Given the description of an element on the screen output the (x, y) to click on. 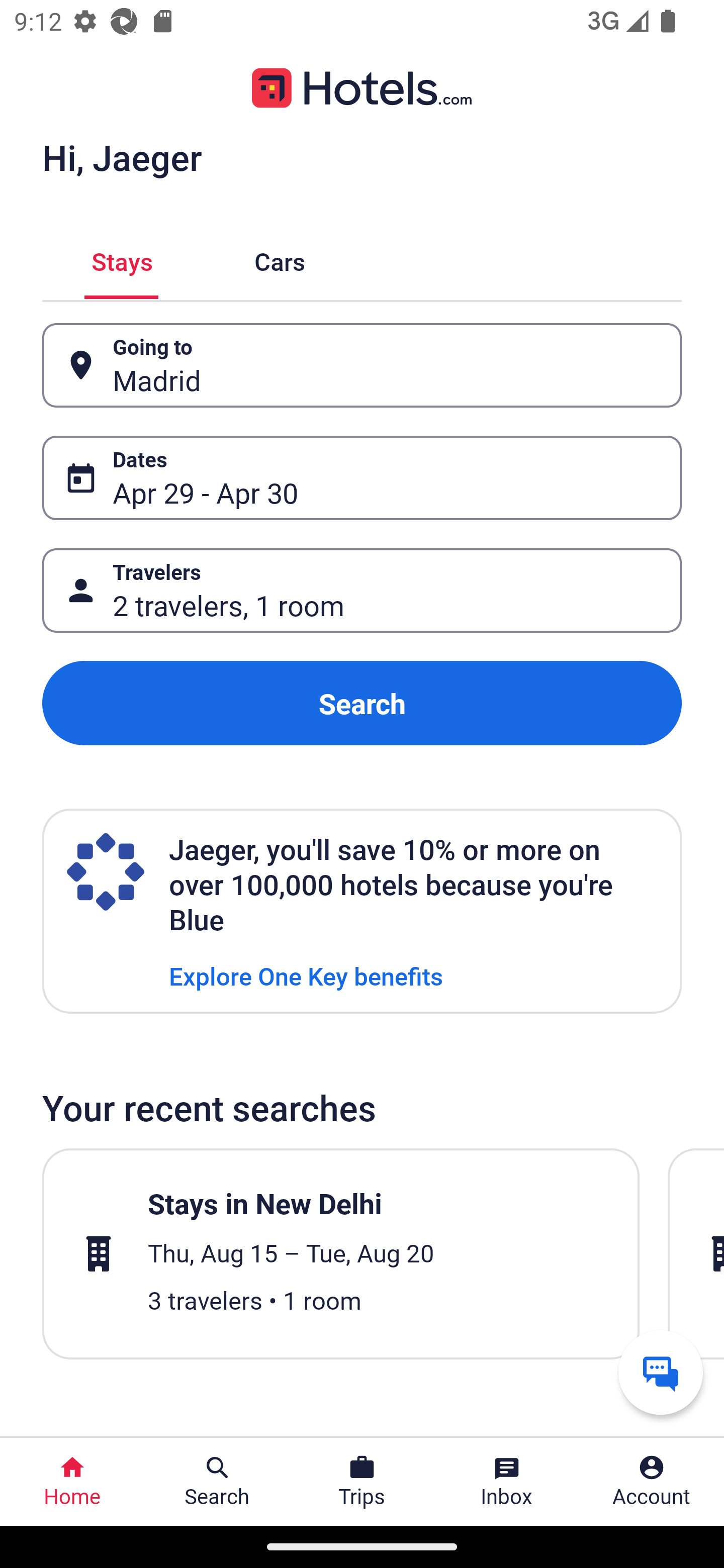
Hi, Jaeger (121, 156)
Cars (279, 259)
Going to Button Madrid (361, 365)
Dates Button Apr 29 - Apr 30 (361, 477)
Travelers Button 2 travelers, 1 room (361, 590)
Search (361, 702)
Get help from a virtual agent (660, 1371)
Search Search Button (216, 1481)
Trips Trips Button (361, 1481)
Inbox Inbox Button (506, 1481)
Account Profile. Button (651, 1481)
